Given the description of an element on the screen output the (x, y) to click on. 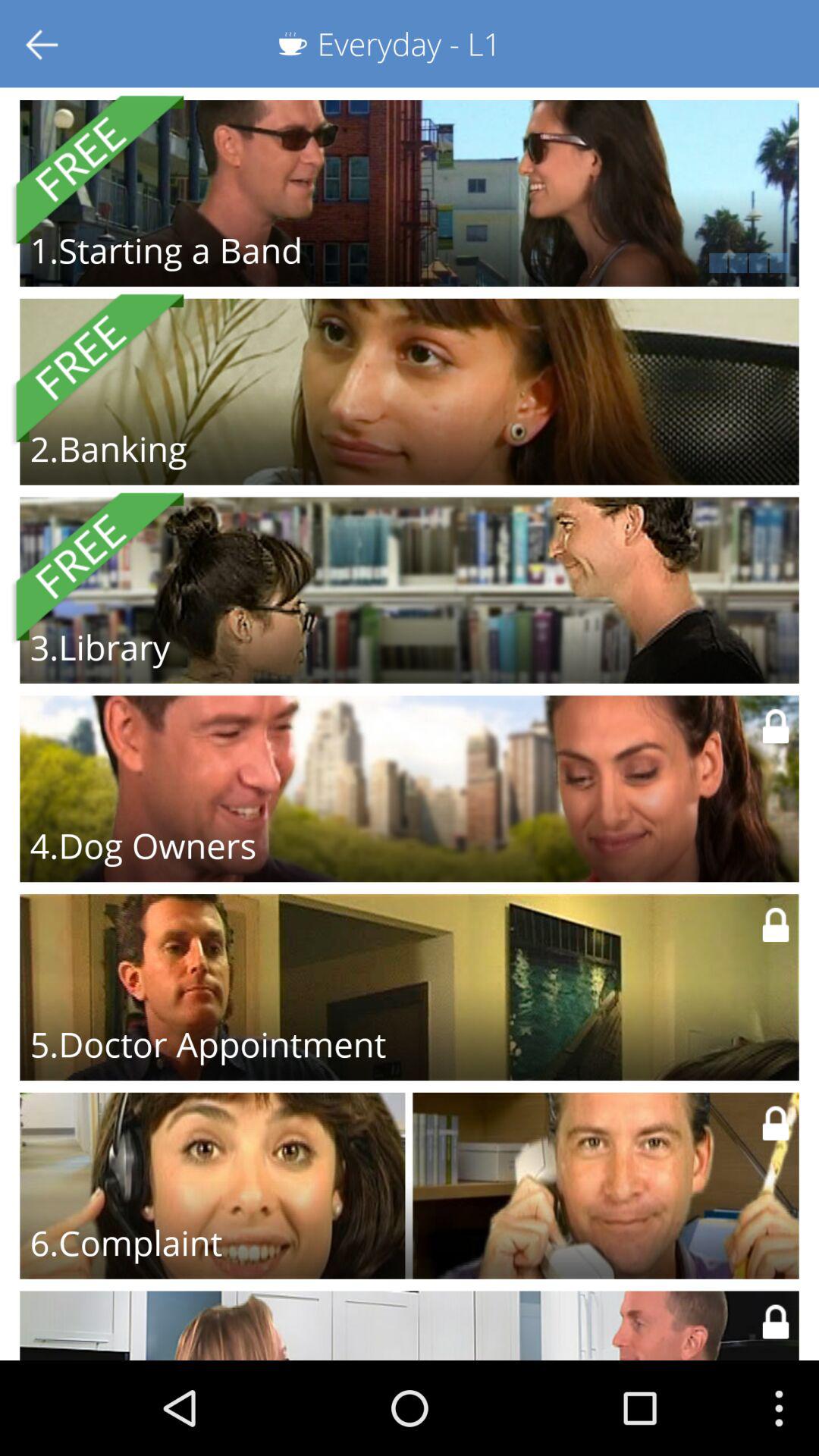
select the 1 starting a icon (166, 250)
